Given the description of an element on the screen output the (x, y) to click on. 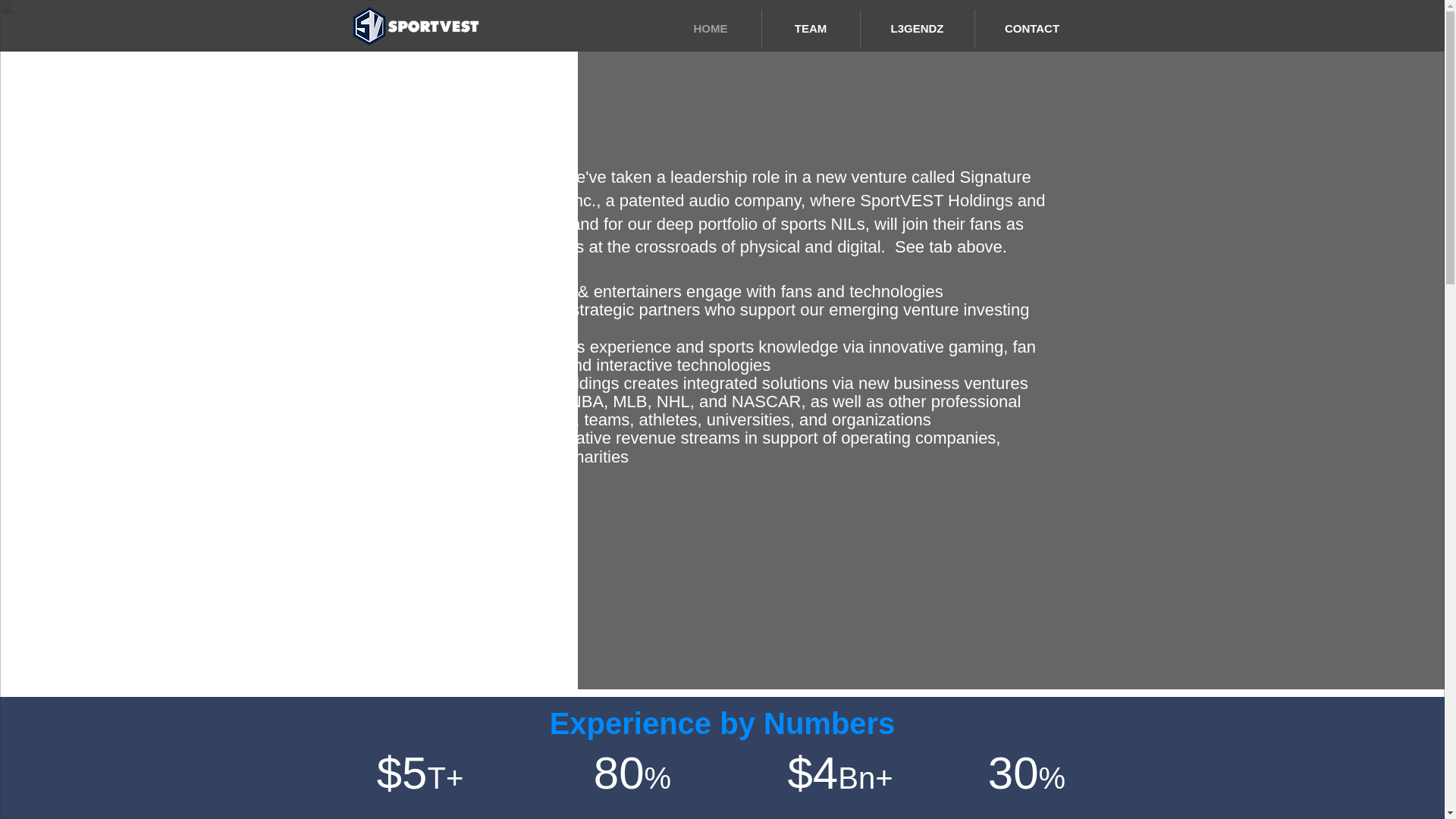
HOME (709, 28)
the NFL, NBA, MLB, NHL, and NASCAR, as well as (691, 401)
CONTACT (1032, 28)
L3GENDZ (917, 28)
TEAM (810, 28)
